Given the description of an element on the screen output the (x, y) to click on. 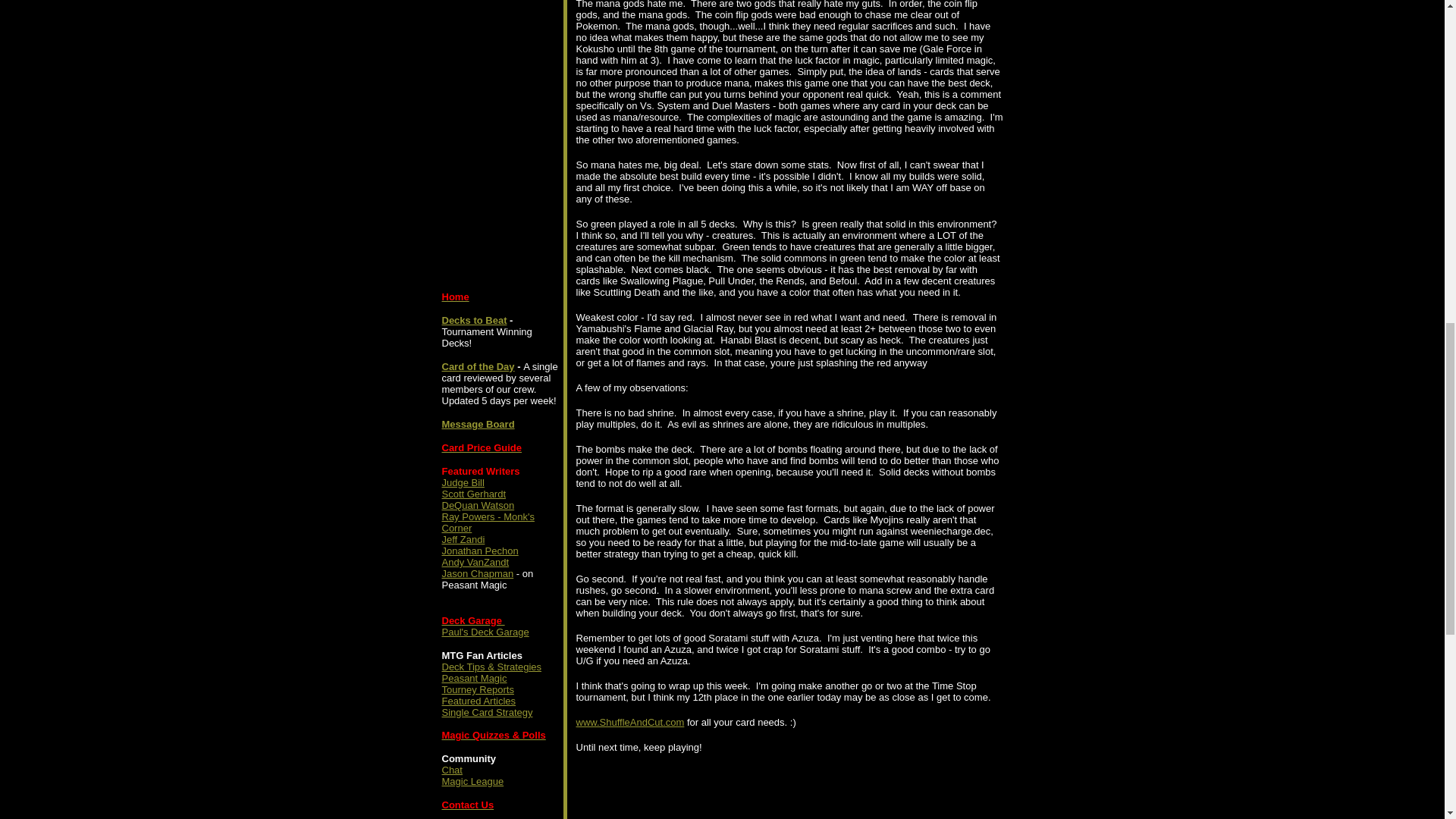
Chat (451, 769)
Message Board (477, 423)
Card of the Day (477, 366)
Paul's Deck Garage (484, 632)
DeQuan Watson (477, 505)
Judge Bill (462, 482)
Jonathan Pechon (479, 550)
Ray Powers - Monk's Corner (487, 522)
Jason Chapman (477, 573)
Featured Articles (478, 700)
